Given the description of an element on the screen output the (x, y) to click on. 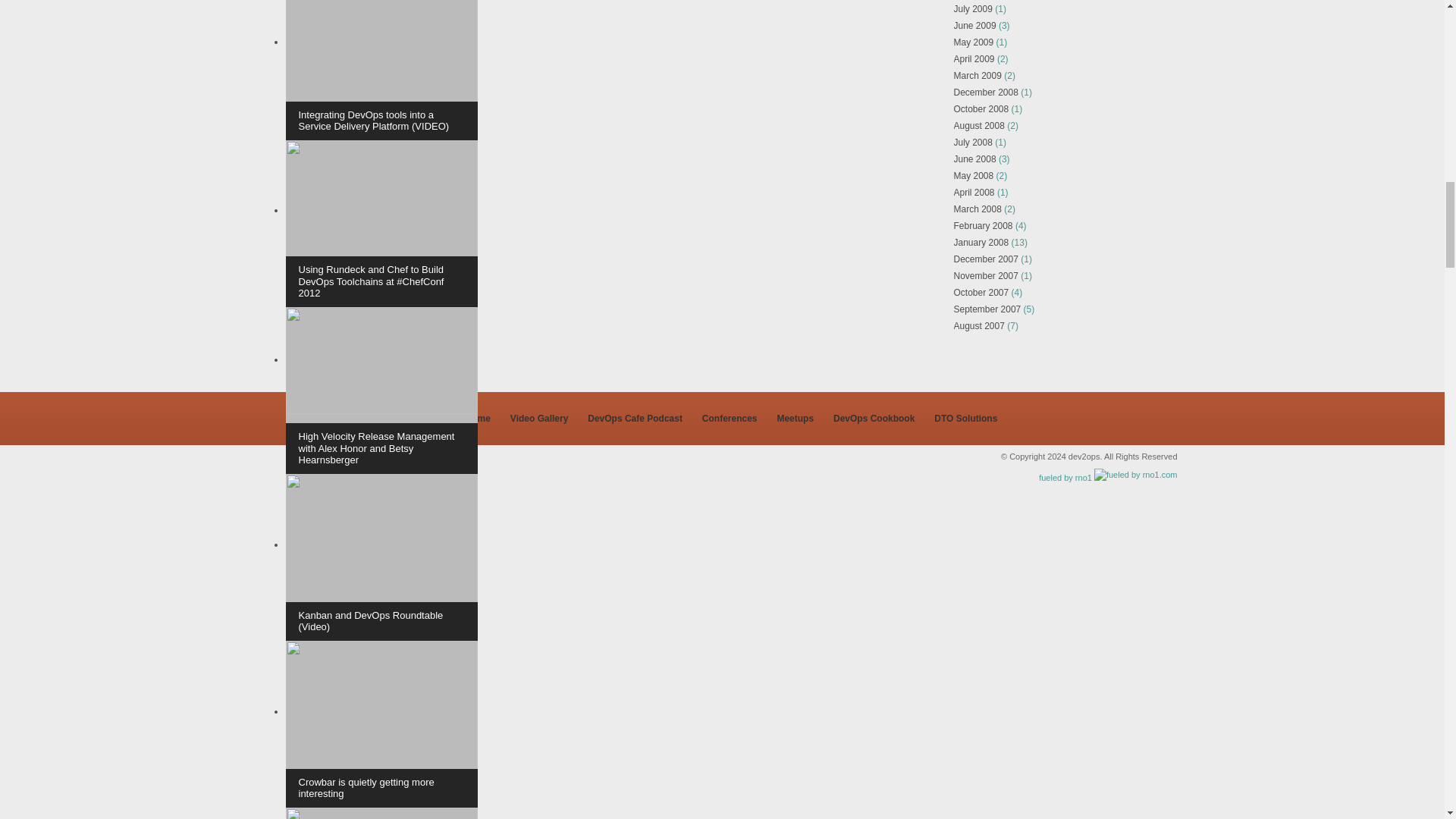
Crowbar is quietly getting more interesting (381, 723)
Crowbar is quietly getting more interesting (381, 723)
